Given the description of an element on the screen output the (x, y) to click on. 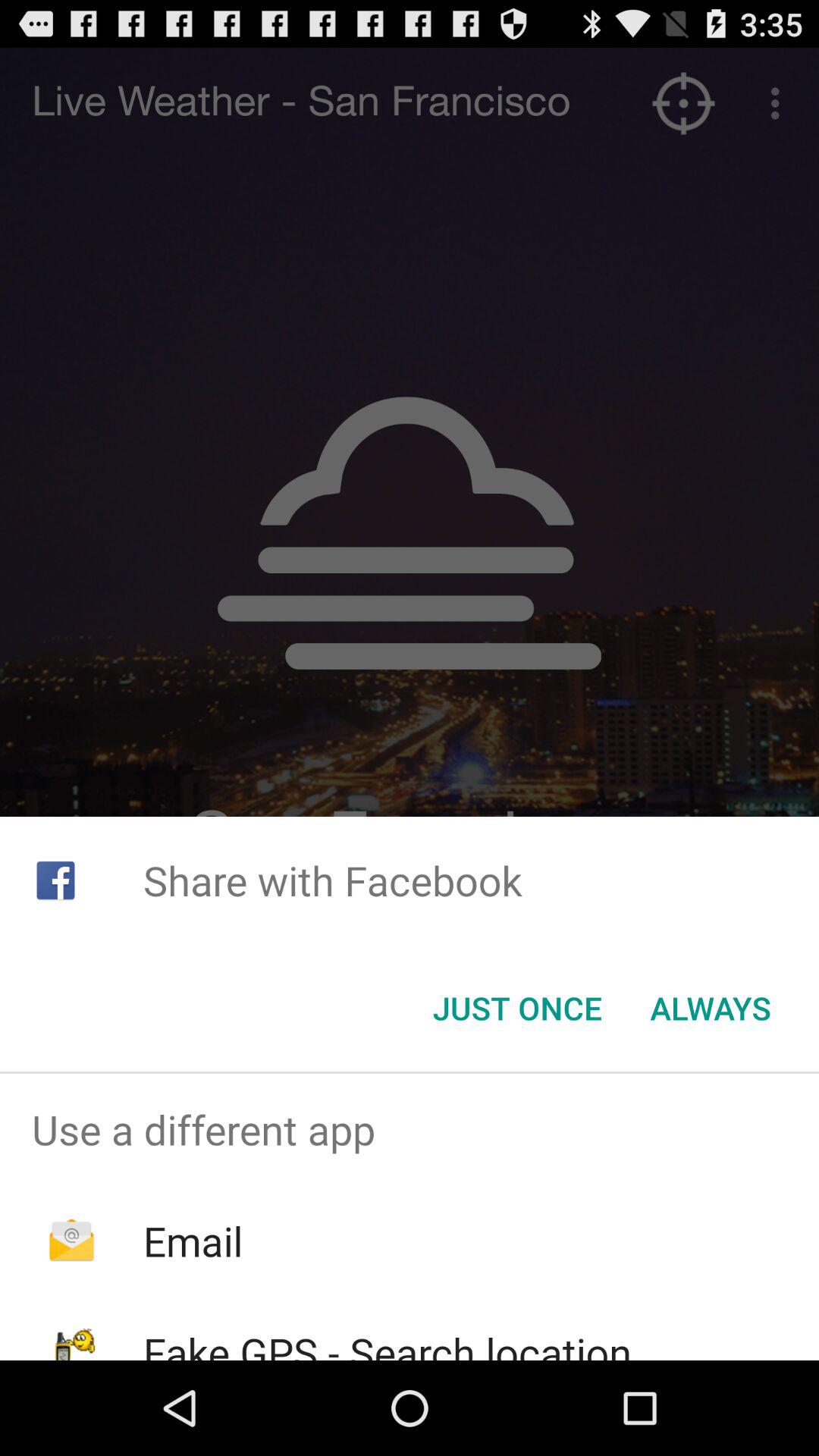
click the icon to the right of just once (710, 1007)
